Given the description of an element on the screen output the (x, y) to click on. 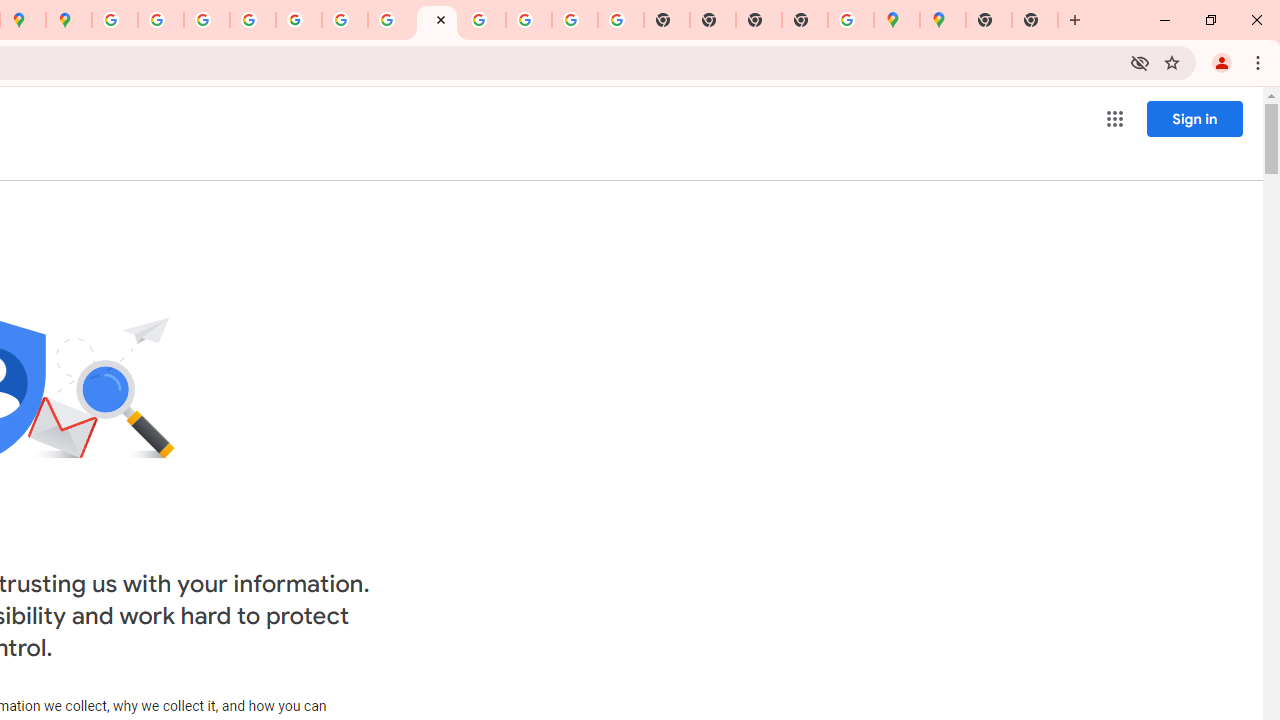
New Tab (1035, 20)
New Tab (989, 20)
Google Maps (943, 20)
Google Maps (897, 20)
